Given the description of an element on the screen output the (x, y) to click on. 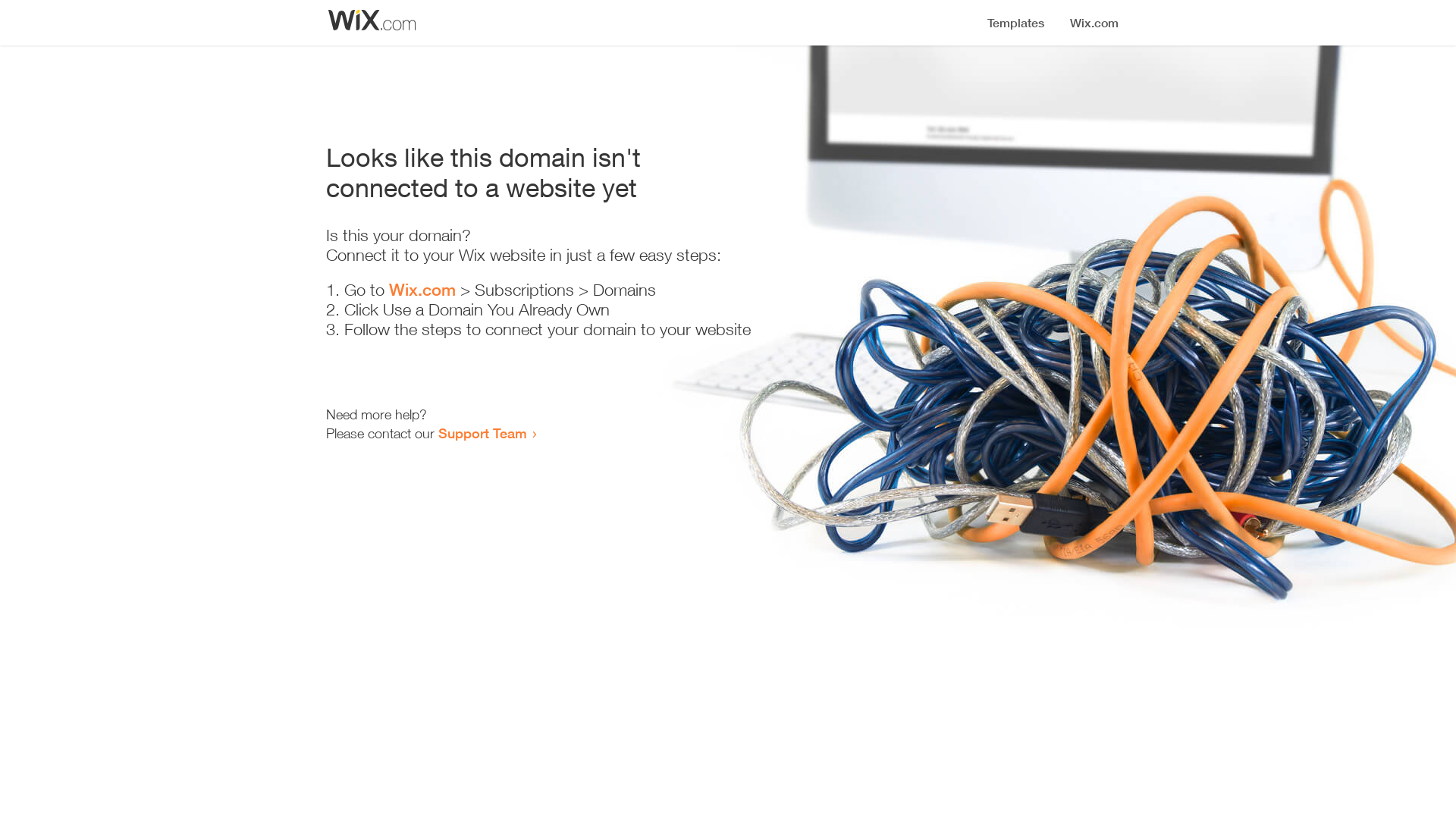
Support Team Element type: text (482, 432)
Wix.com Element type: text (422, 289)
